Given the description of an element on the screen output the (x, y) to click on. 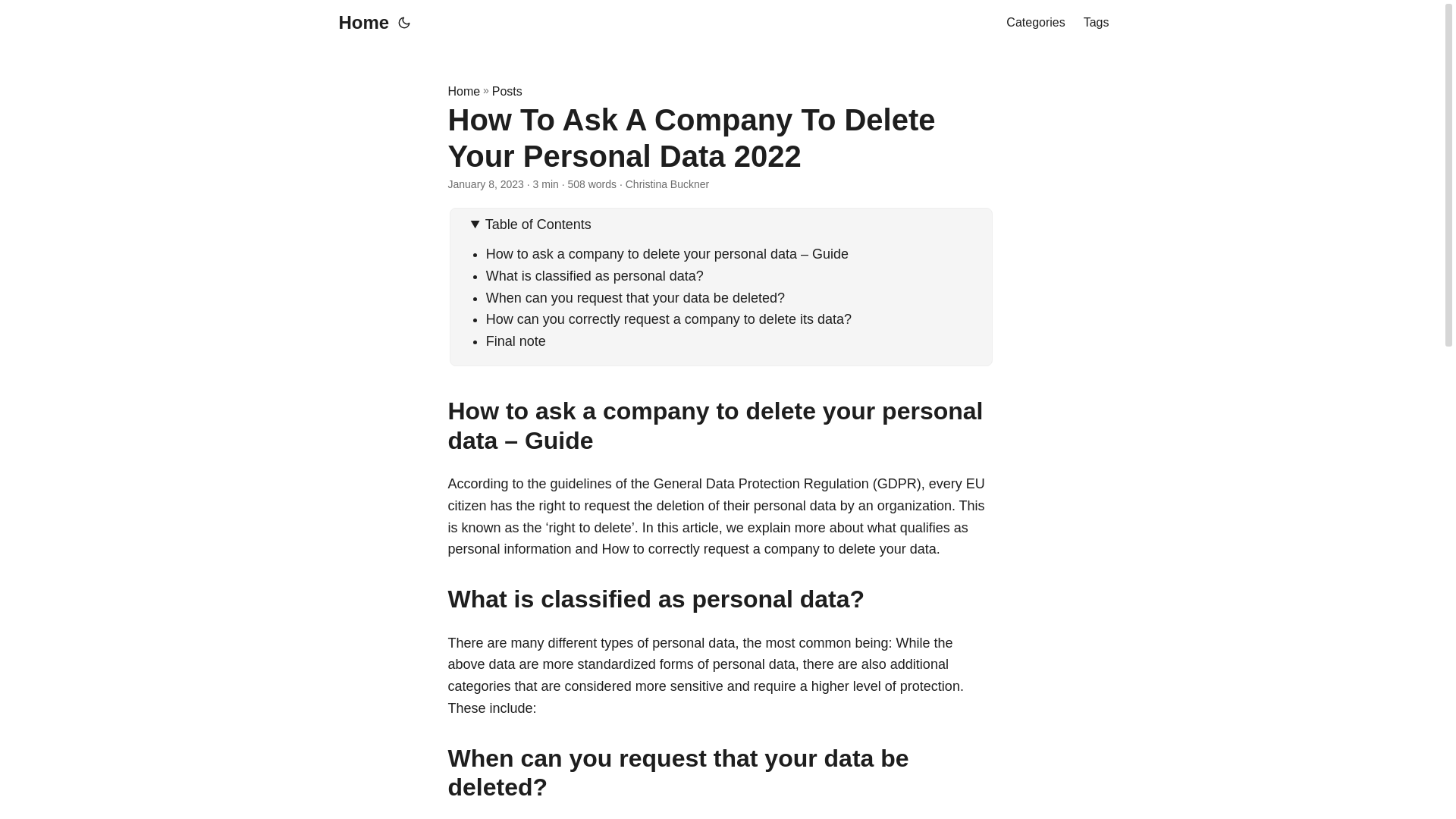
Home (359, 22)
When can you request that your data be deleted? (635, 297)
Home (463, 91)
Categories (1035, 22)
Categories (1035, 22)
Final note (516, 340)
What is classified as personal data? (594, 275)
Posts (507, 91)
How can you correctly request a company to delete its data? (668, 319)
